Given the description of an element on the screen output the (x, y) to click on. 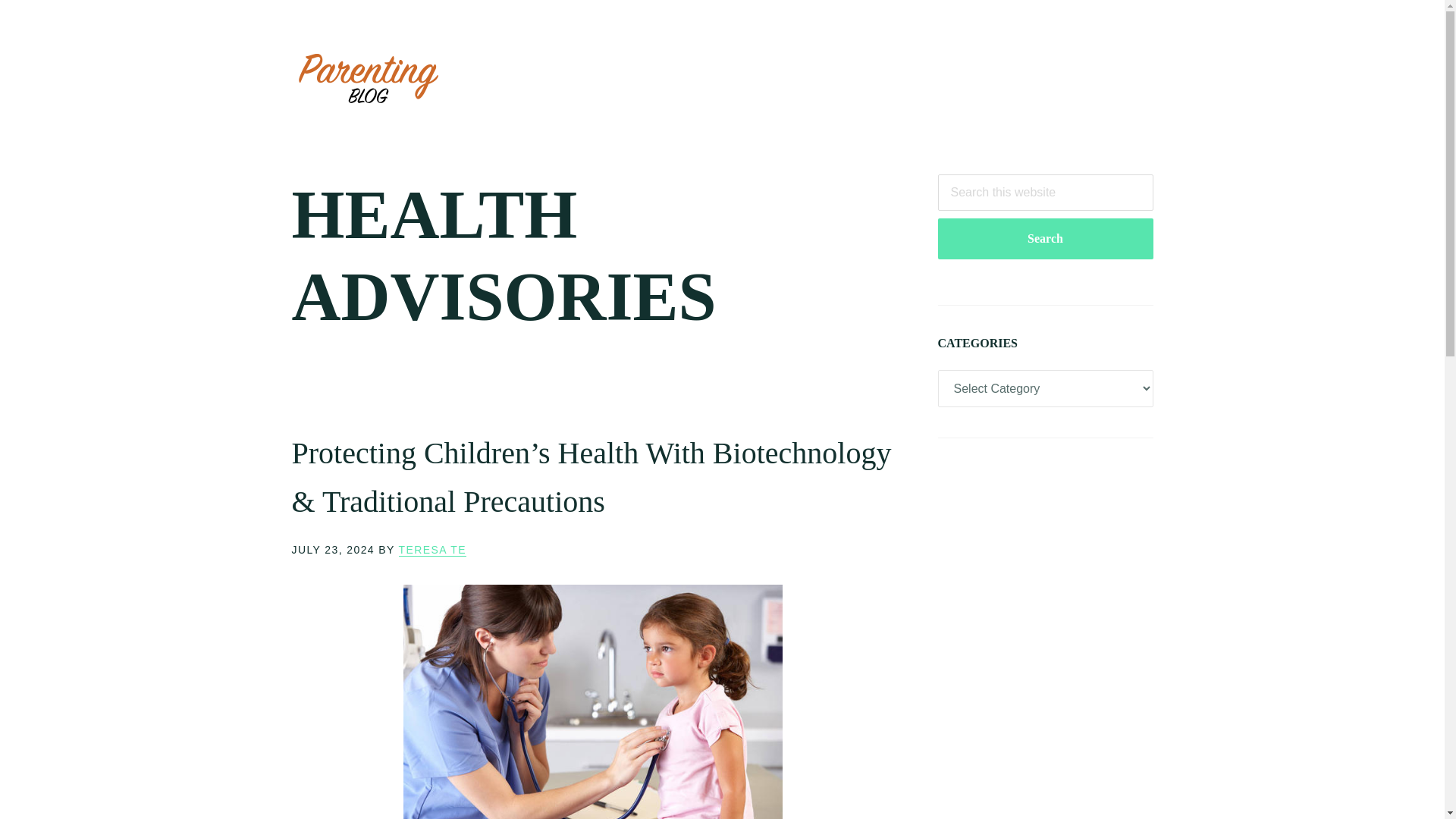
Search (1045, 238)
Search (1045, 238)
Parenting Blog (366, 77)
TERESA TE (431, 549)
Search (1045, 238)
